Given the description of an element on the screen output the (x, y) to click on. 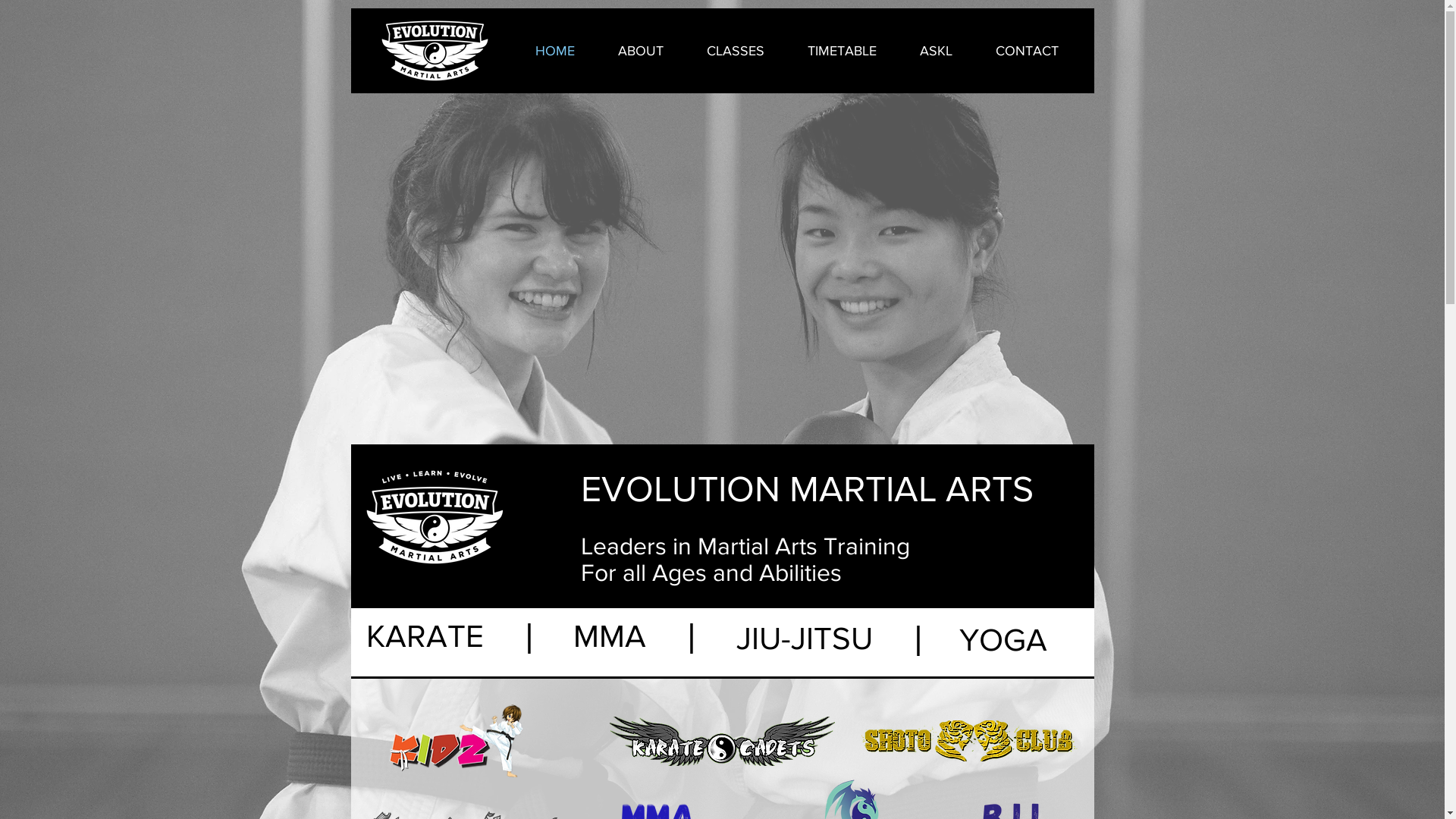
ABOUT Element type: text (640, 50)
TIMETABLE Element type: text (841, 50)
ASKL Element type: text (935, 50)
HOME Element type: text (555, 50)
KARATE     | Element type: text (449, 635)
CLASSES Element type: text (735, 50)
JIU-JITSU     | Element type: text (828, 638)
CONTACT Element type: text (1026, 50)
YOGA Element type: text (1002, 639)
MMA     | Element type: text (634, 635)
